Given the description of an element on the screen output the (x, y) to click on. 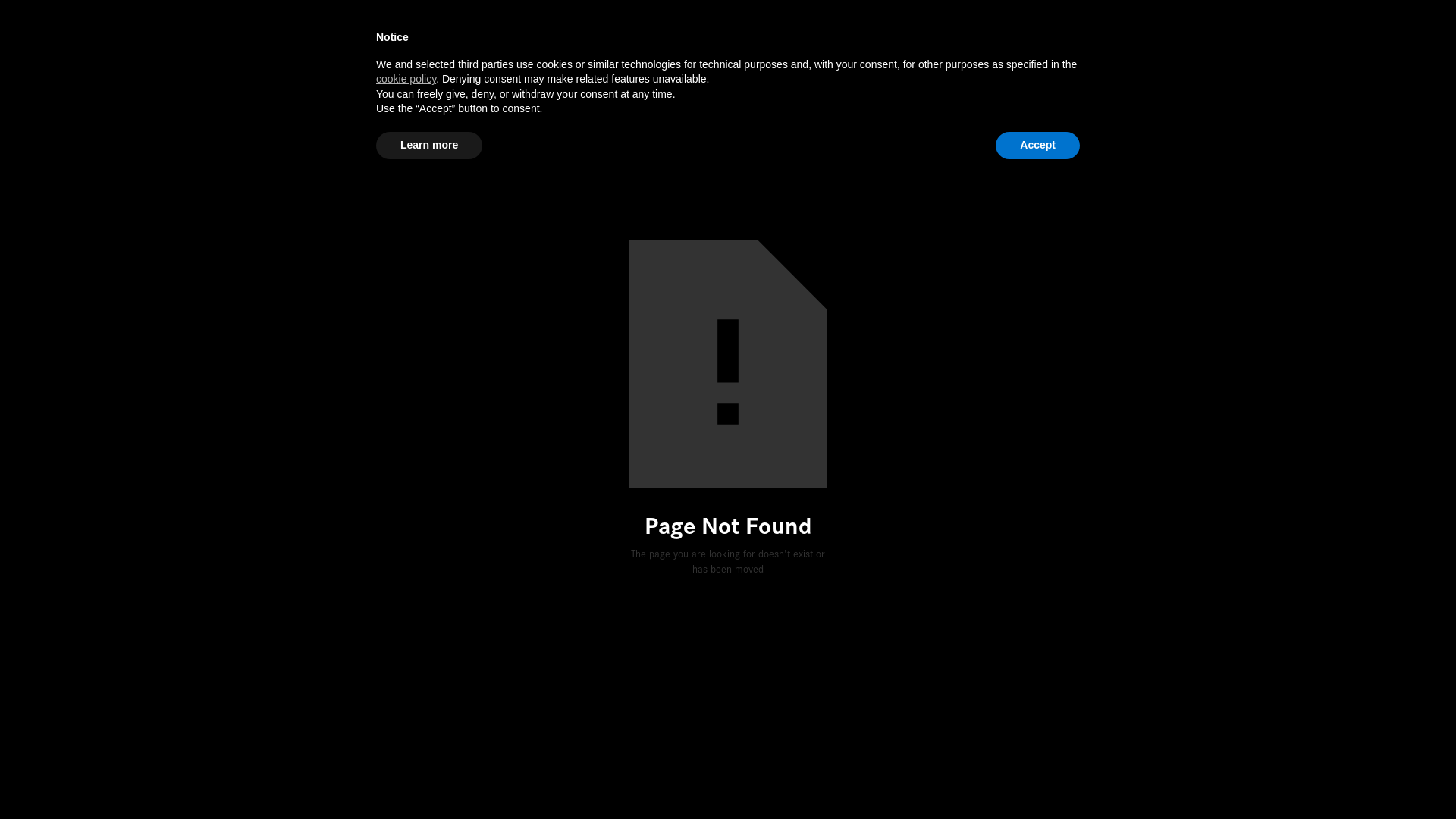
Accept Element type: text (1037, 145)
cookie policy Element type: text (406, 78)
Learn more Element type: text (429, 145)
